Given the description of an element on the screen output the (x, y) to click on. 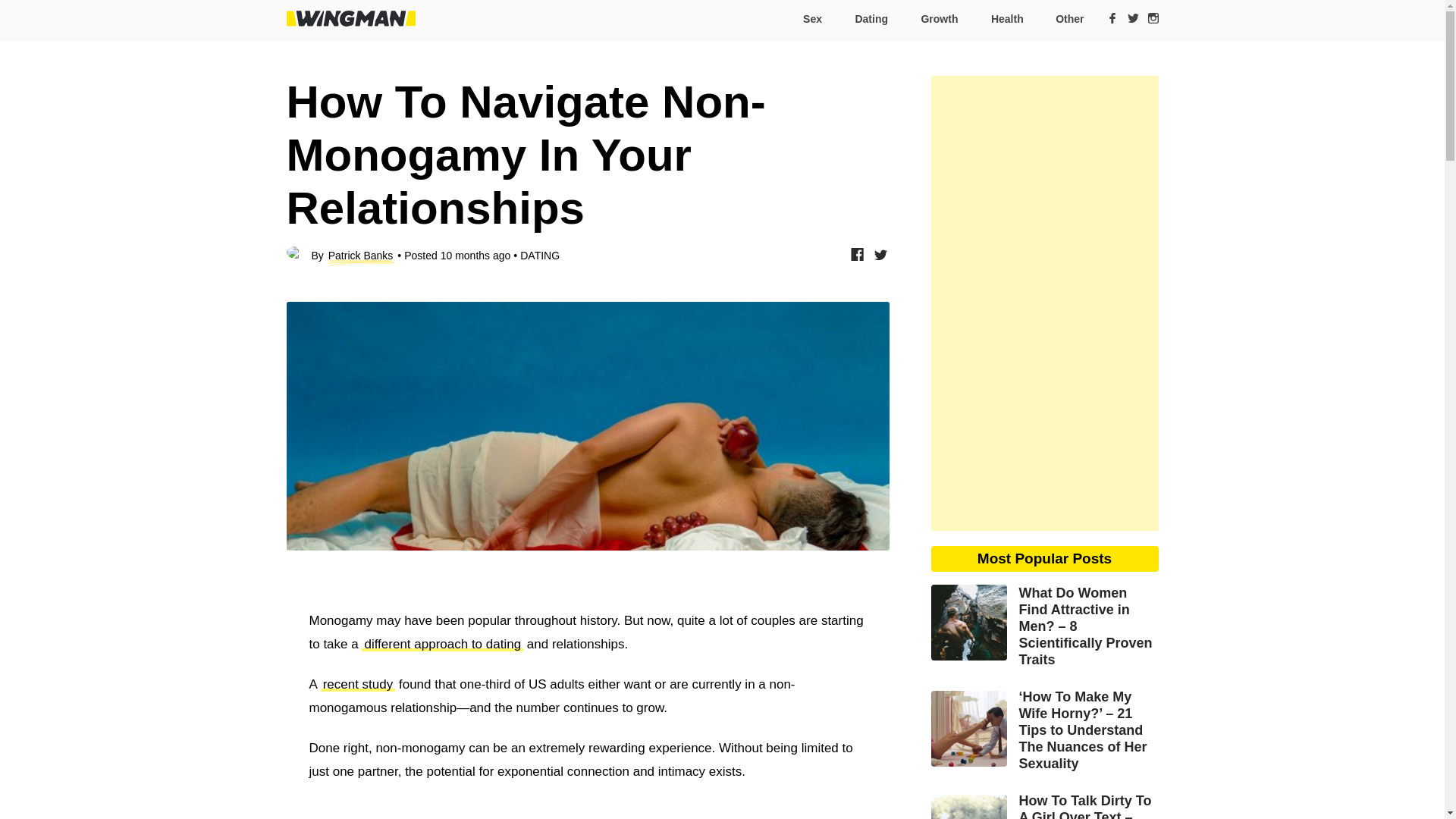
Wingman Magazine (350, 18)
Health (1005, 19)
Sex (810, 19)
different approach to dating (441, 644)
Other (1063, 19)
Dating (870, 19)
Growth (938, 19)
recent study (358, 684)
